Given the description of an element on the screen output the (x, y) to click on. 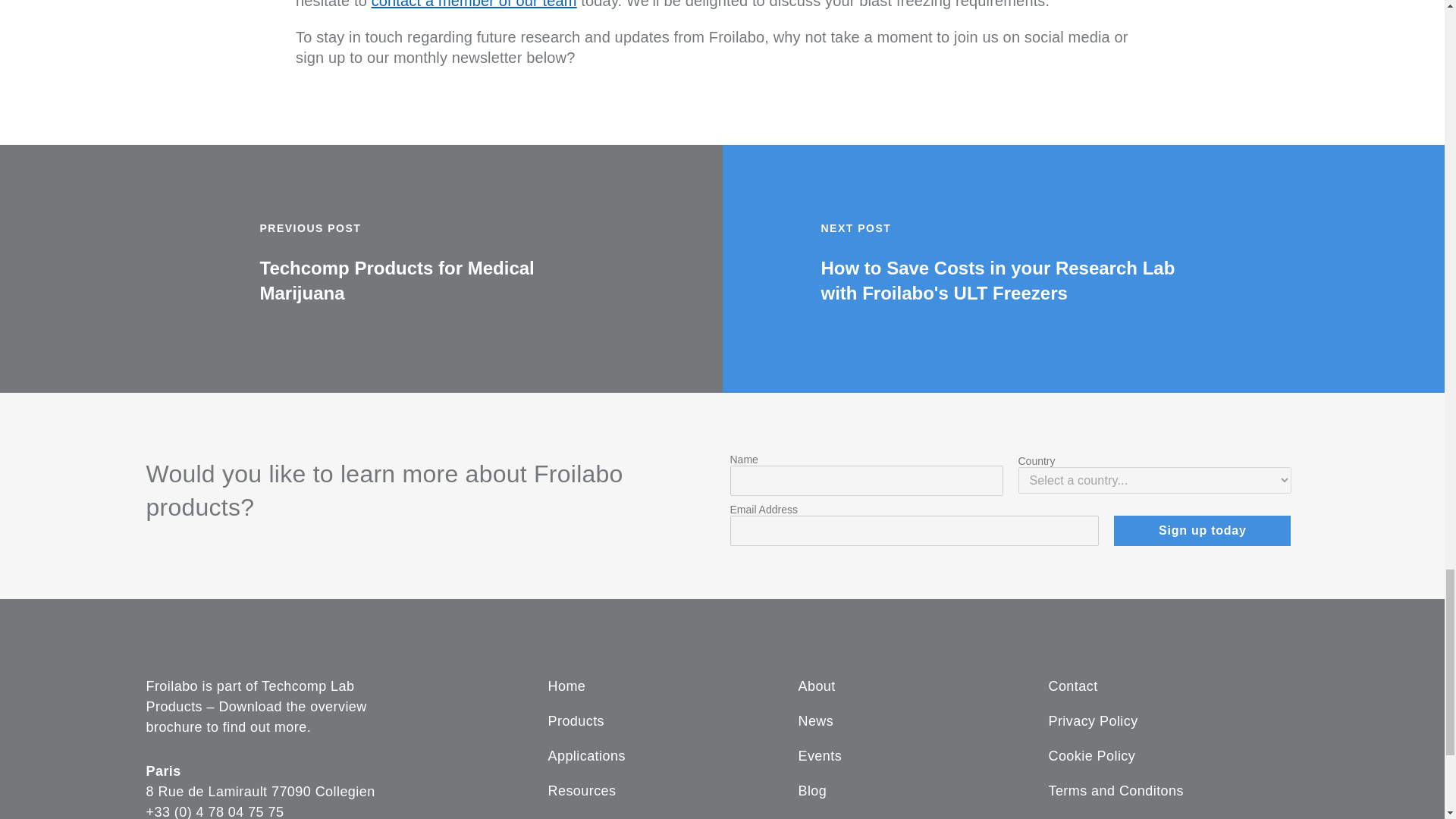
Sign up today (1201, 530)
